Given the description of an element on the screen output the (x, y) to click on. 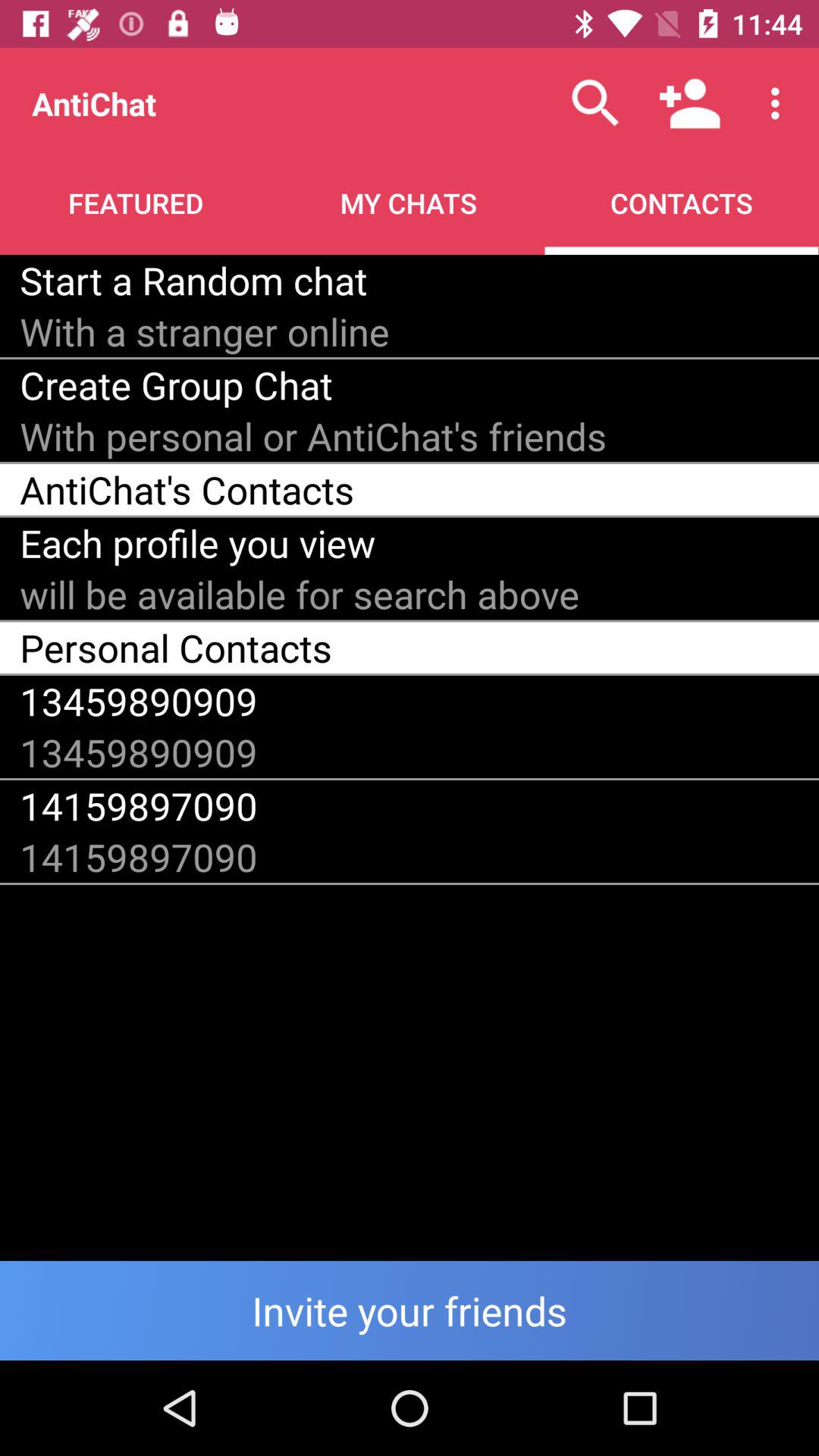
invite friends to group chat (409, 1310)
